Given the description of an element on the screen output the (x, y) to click on. 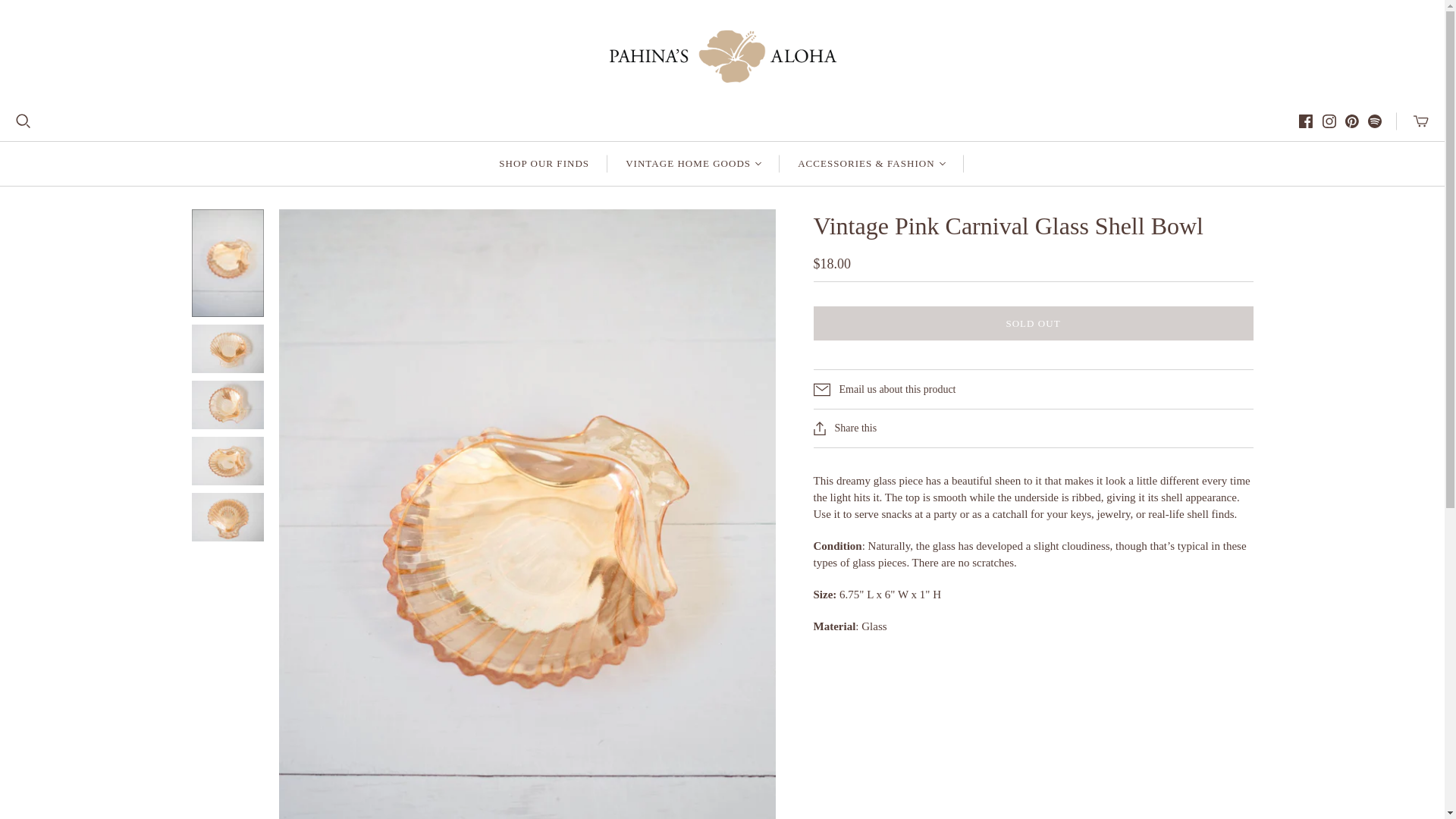
Toggle mini cart (1420, 121)
SHOP OUR FINDS (543, 163)
